Given the description of an element on the screen output the (x, y) to click on. 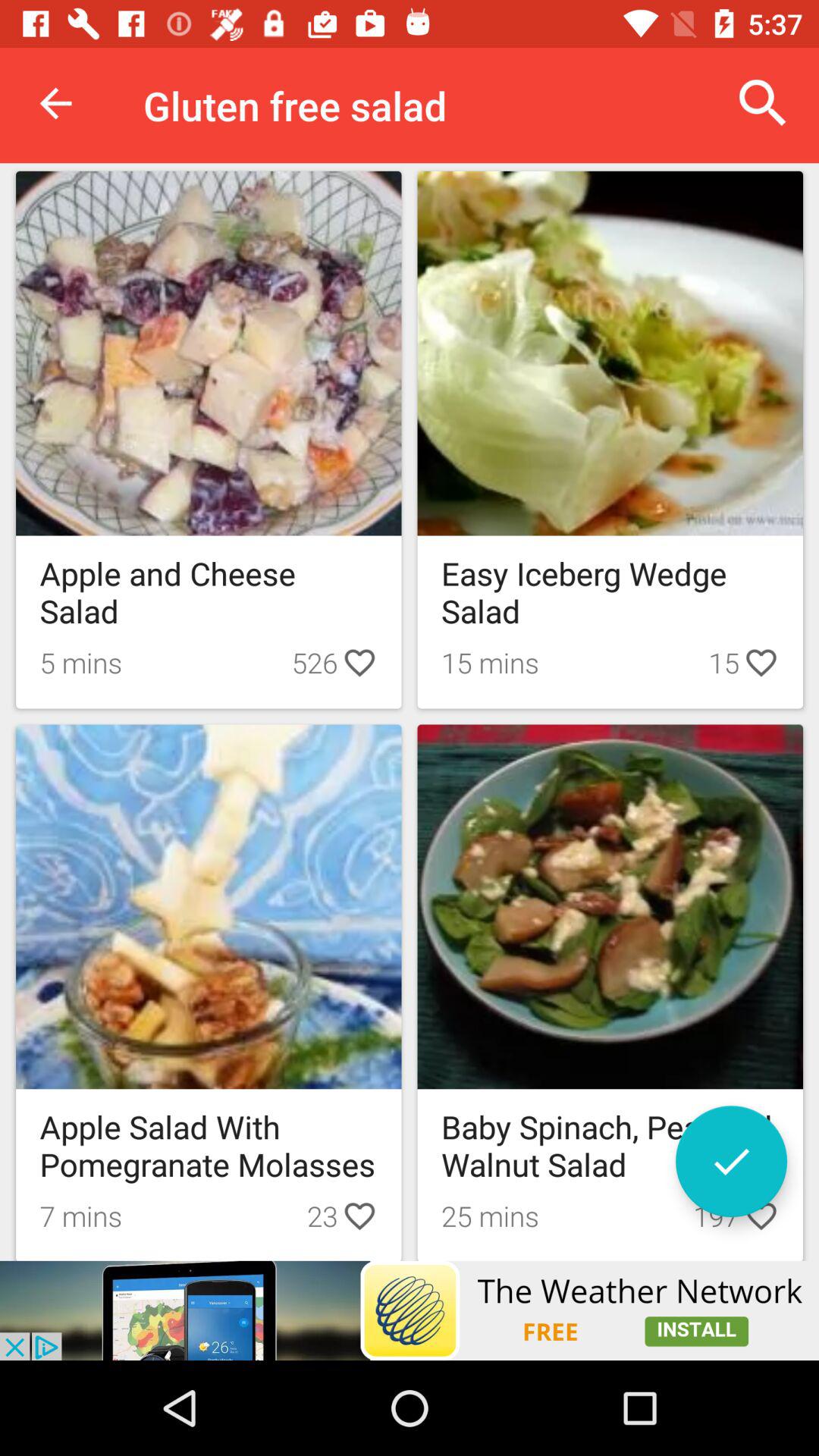
confirm selection button (731, 1161)
